Given the description of an element on the screen output the (x, y) to click on. 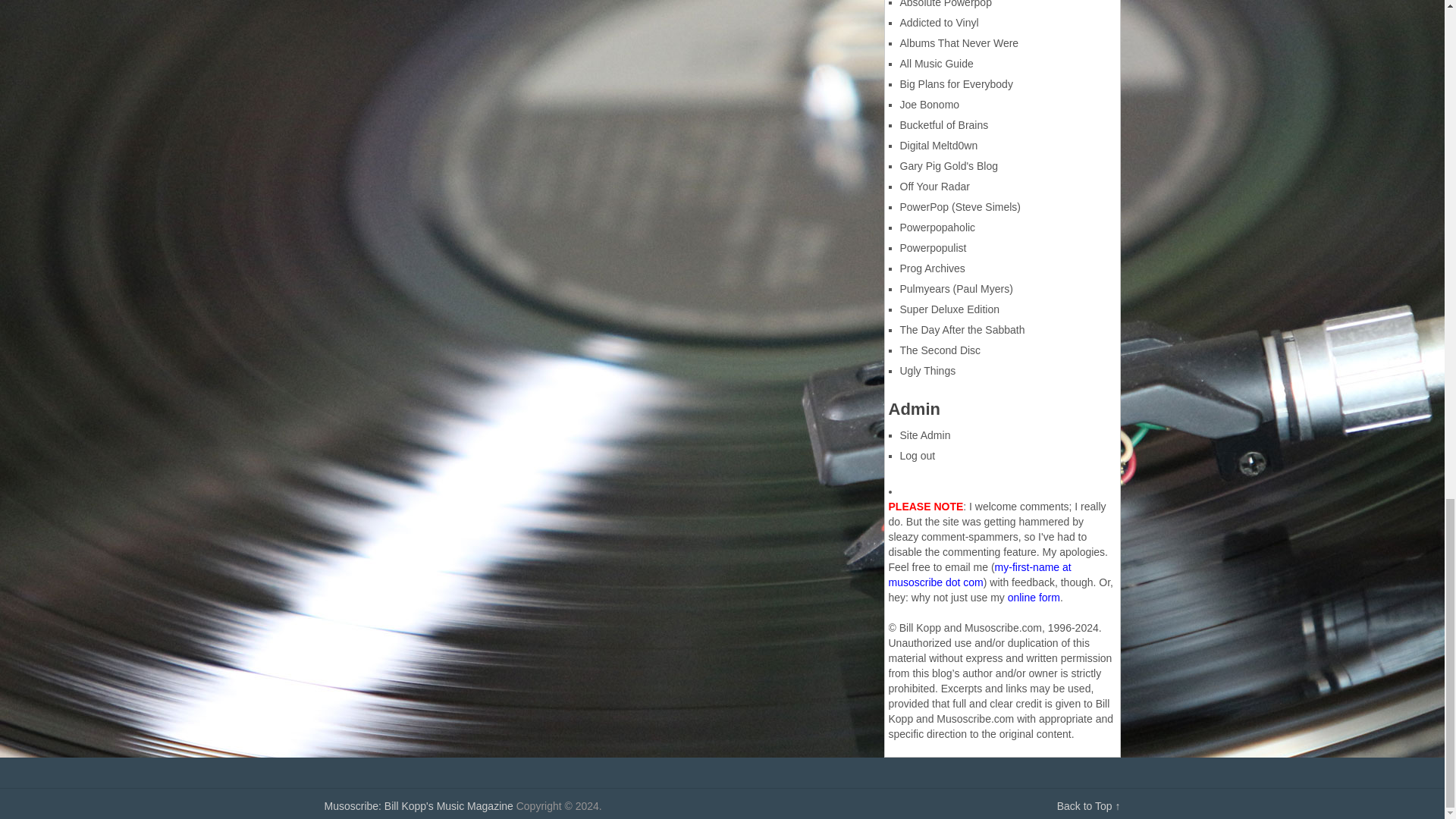
Musoscribe: Bill Kopp's Music Magazine (418, 806)
